Given the description of an element on the screen output the (x, y) to click on. 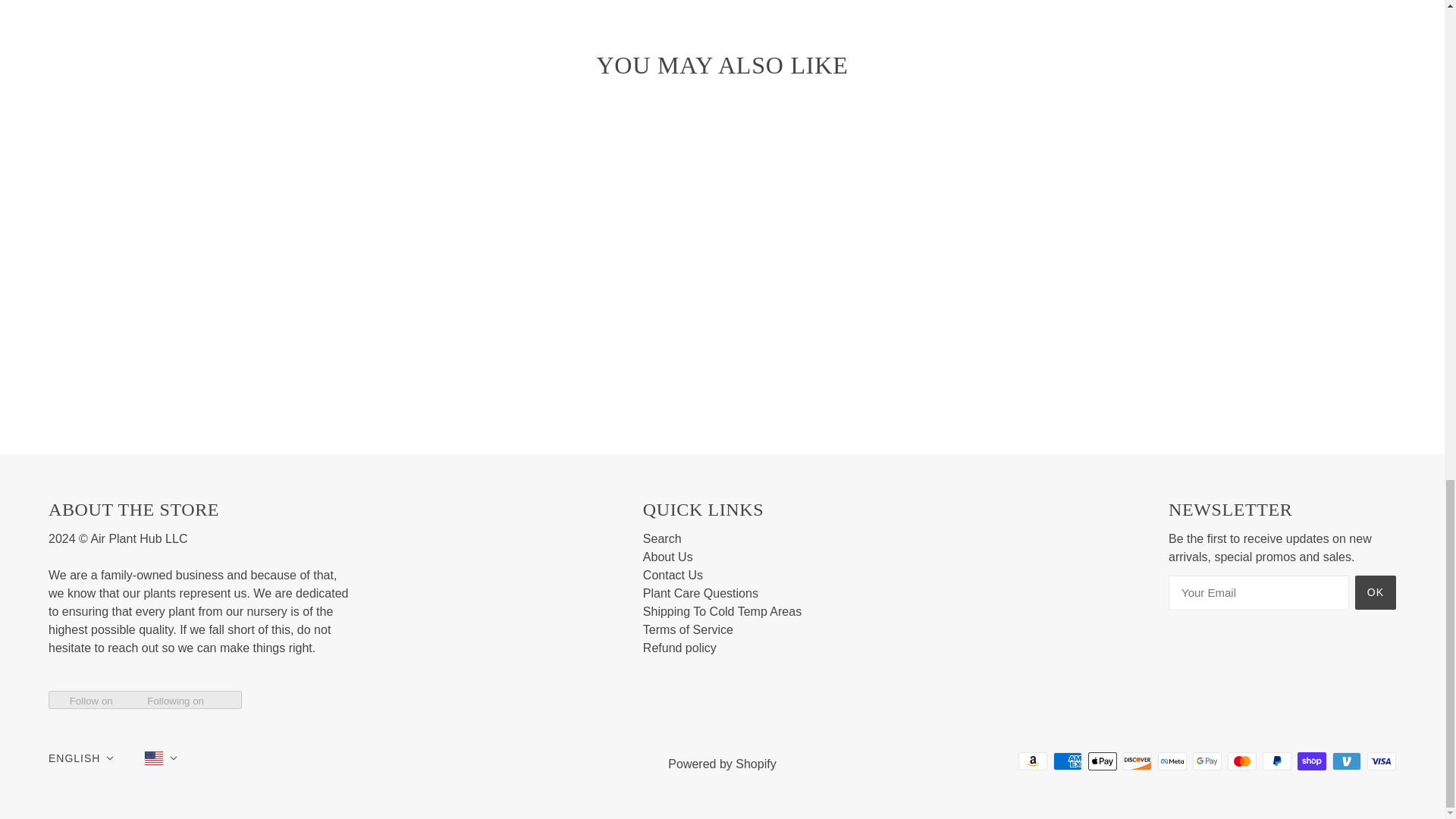
Refund policy (679, 647)
About Us  (668, 556)
Plant Care Questions (700, 593)
Shipping To Cold Temp Areas (722, 611)
Contact Us  (673, 574)
Terms of Service (688, 629)
